Given the description of an element on the screen output the (x, y) to click on. 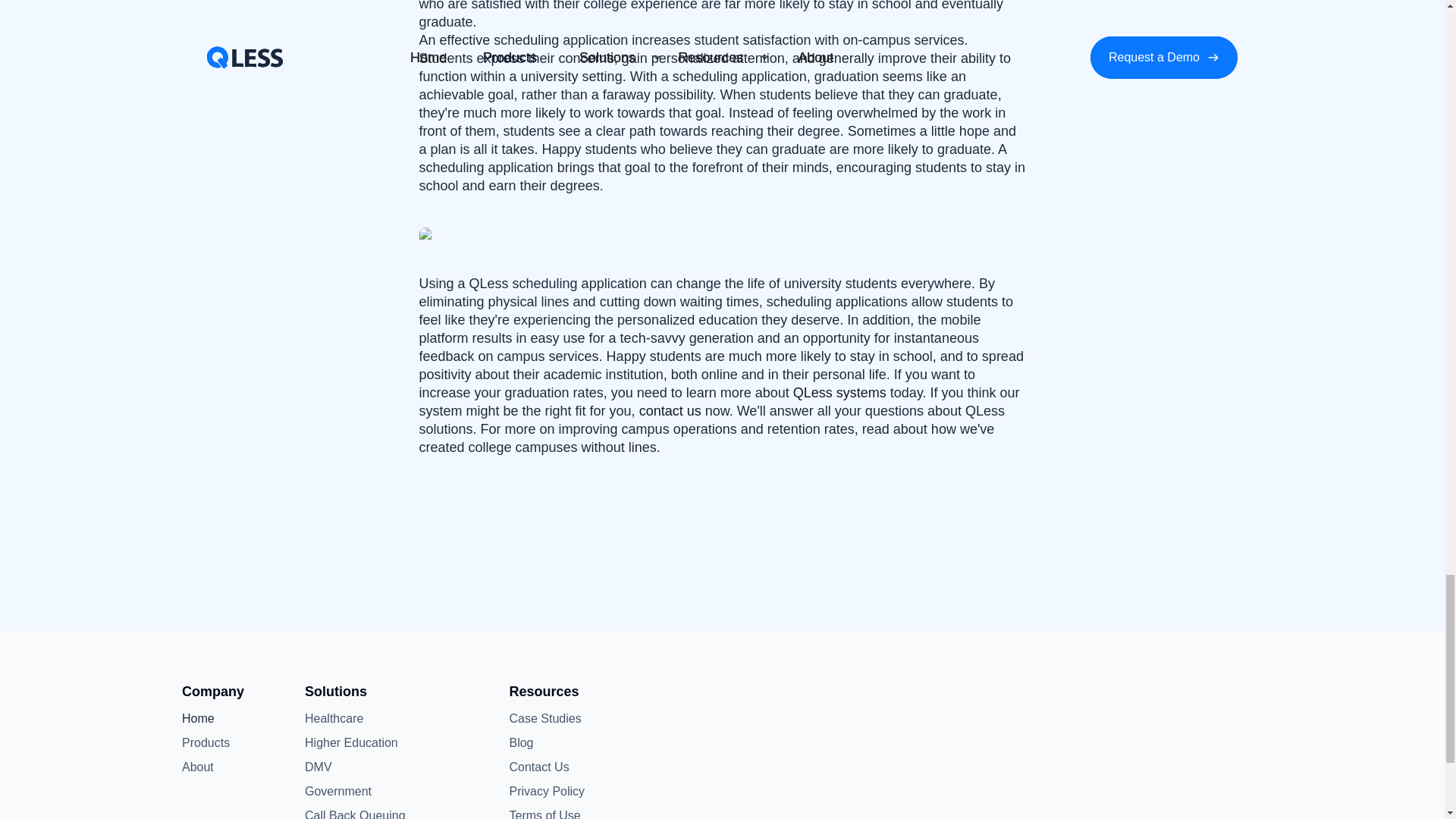
Products (206, 742)
Case Studies (544, 719)
Home (206, 719)
Higher Education (350, 742)
Contact Us (544, 767)
Healthcare (333, 719)
Privacy Policy (546, 791)
Blog (544, 742)
Government (337, 791)
contact us (670, 410)
